Given the description of an element on the screen output the (x, y) to click on. 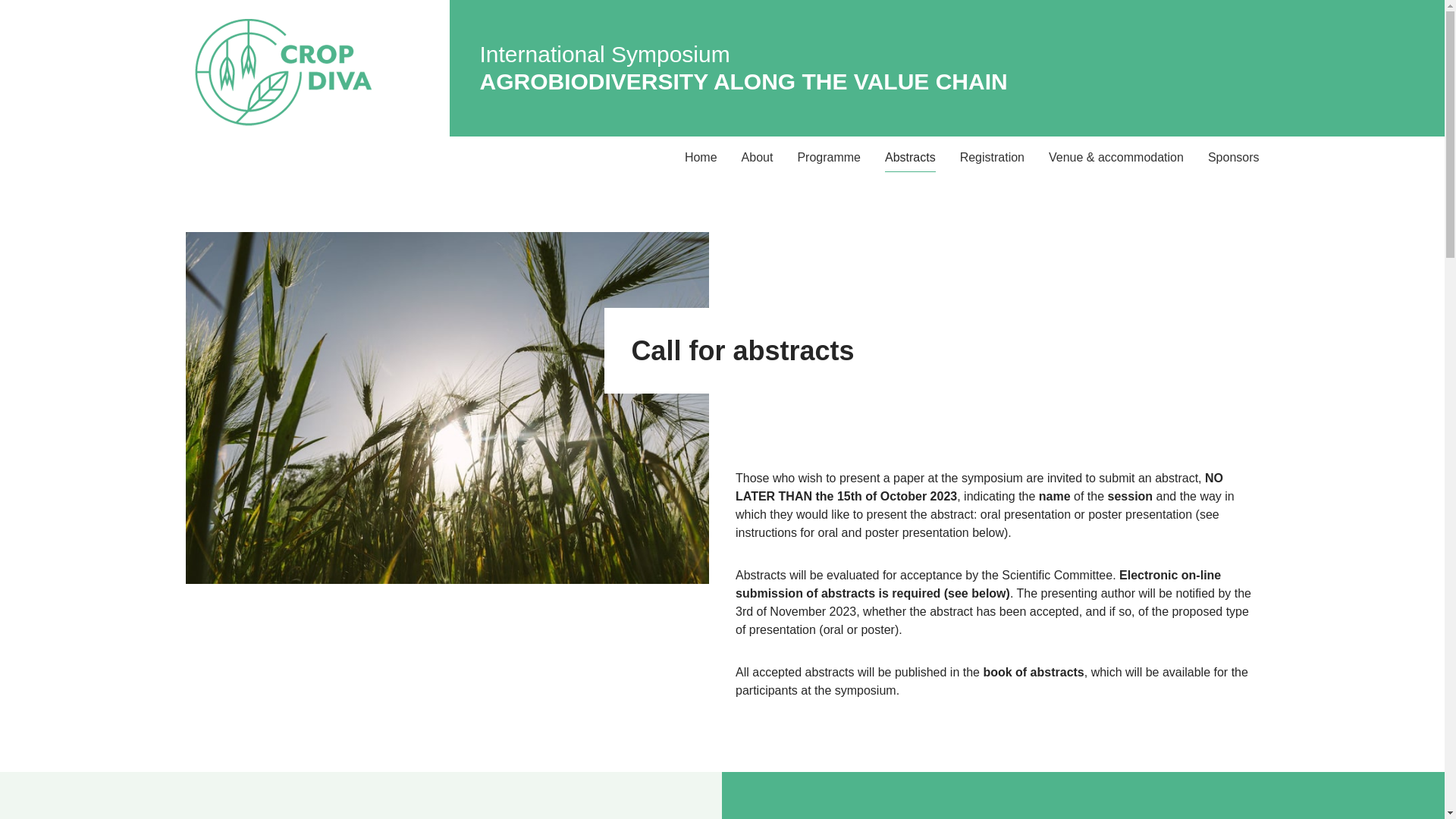
Home (700, 157)
Registration (991, 157)
Abstracts (909, 157)
Abstracts (909, 157)
Programme (828, 157)
Sponsors (1227, 157)
About (757, 157)
Registration (991, 157)
Programme (828, 157)
Sponsors (1227, 157)
Home (700, 157)
About (757, 157)
